Given the description of an element on the screen output the (x, y) to click on. 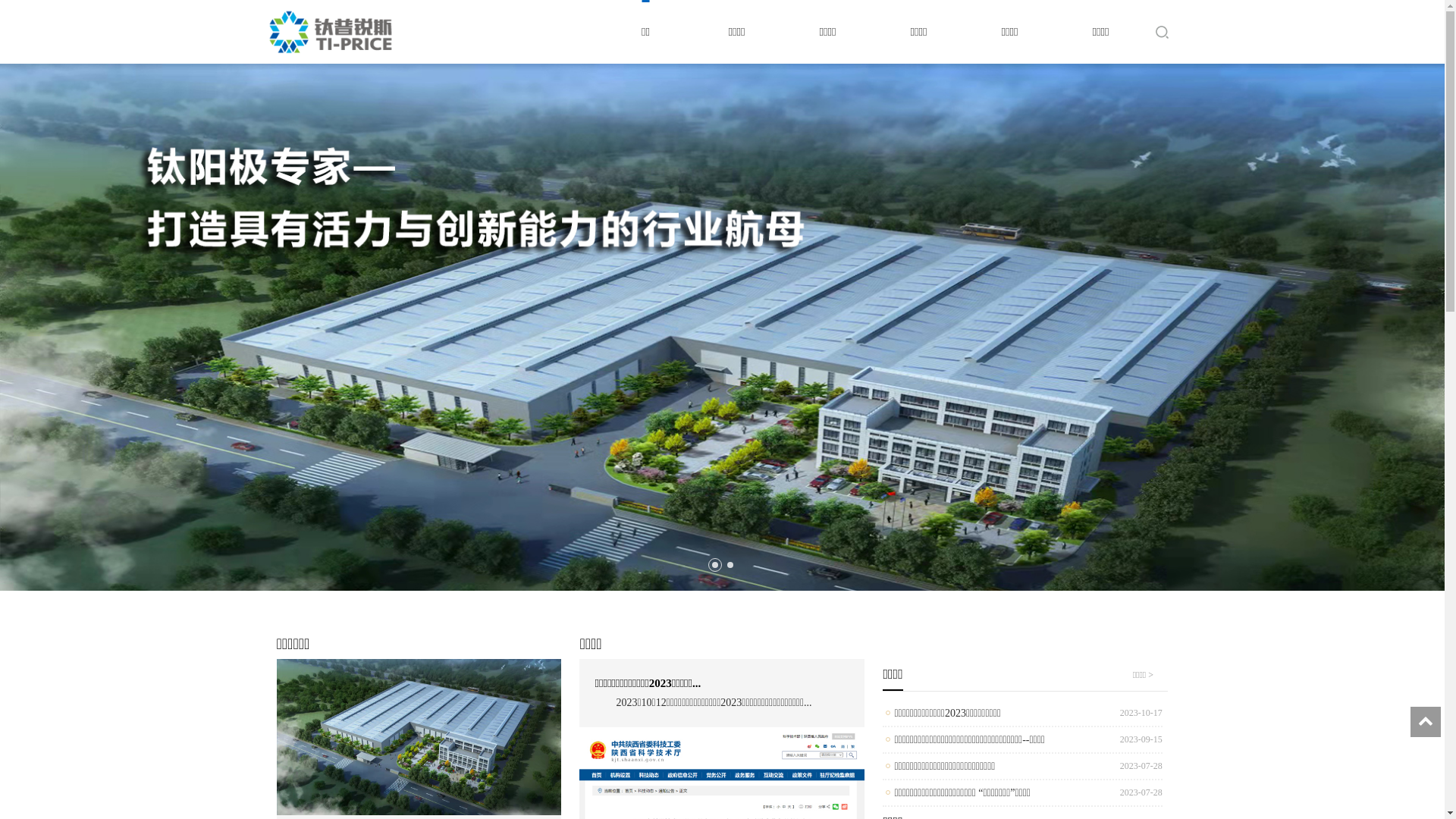
2 Element type: text (729, 564)
1 Element type: text (714, 564)
